Given the description of an element on the screen output the (x, y) to click on. 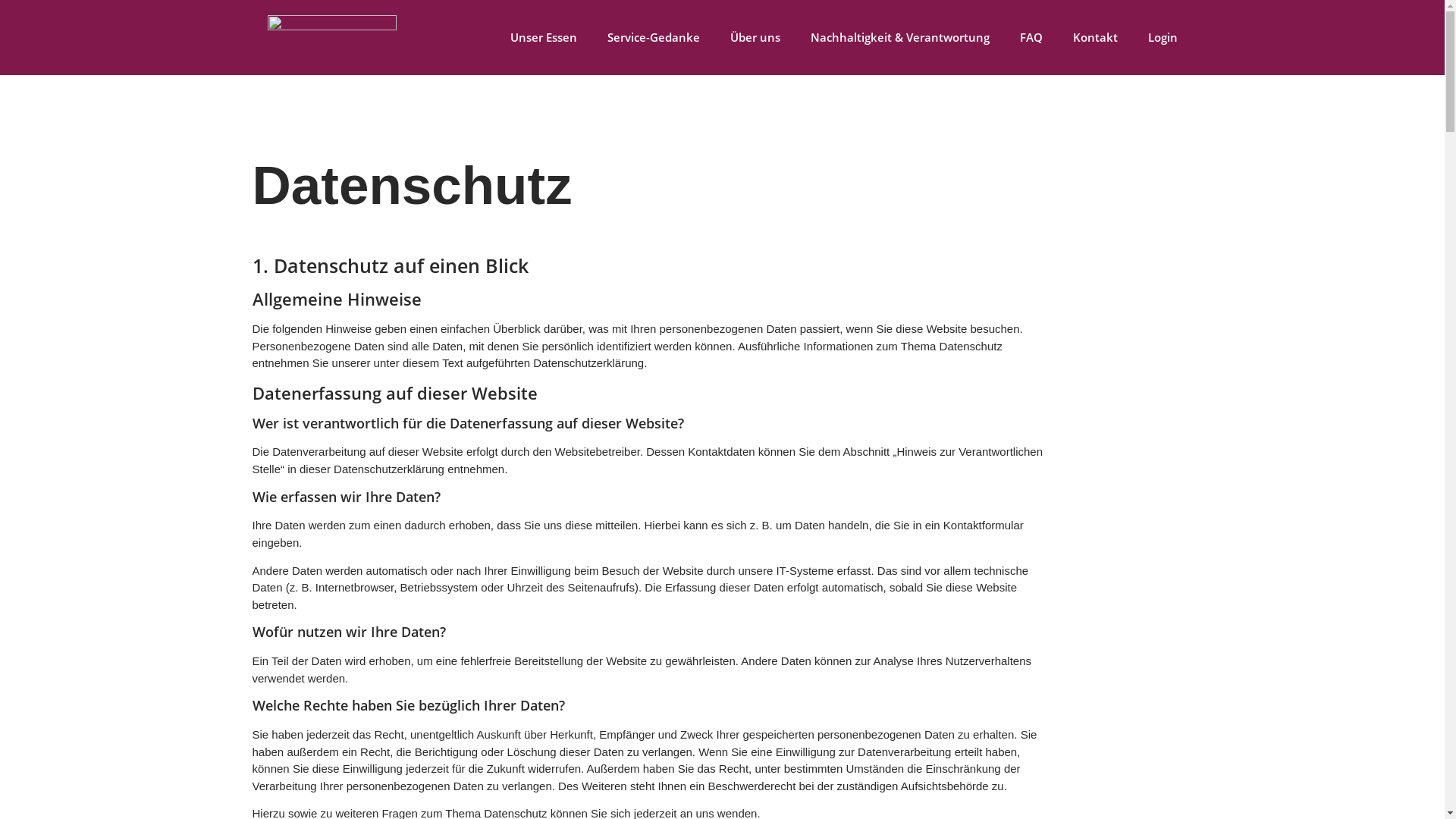
Nachhaltigkeit & Verantwortung Element type: text (899, 36)
FAQ Element type: text (1030, 36)
Unser Essen Element type: text (542, 36)
Service-Gedanke Element type: text (652, 36)
Kontakt Element type: text (1094, 36)
Login Element type: text (1162, 36)
